Given the description of an element on the screen output the (x, y) to click on. 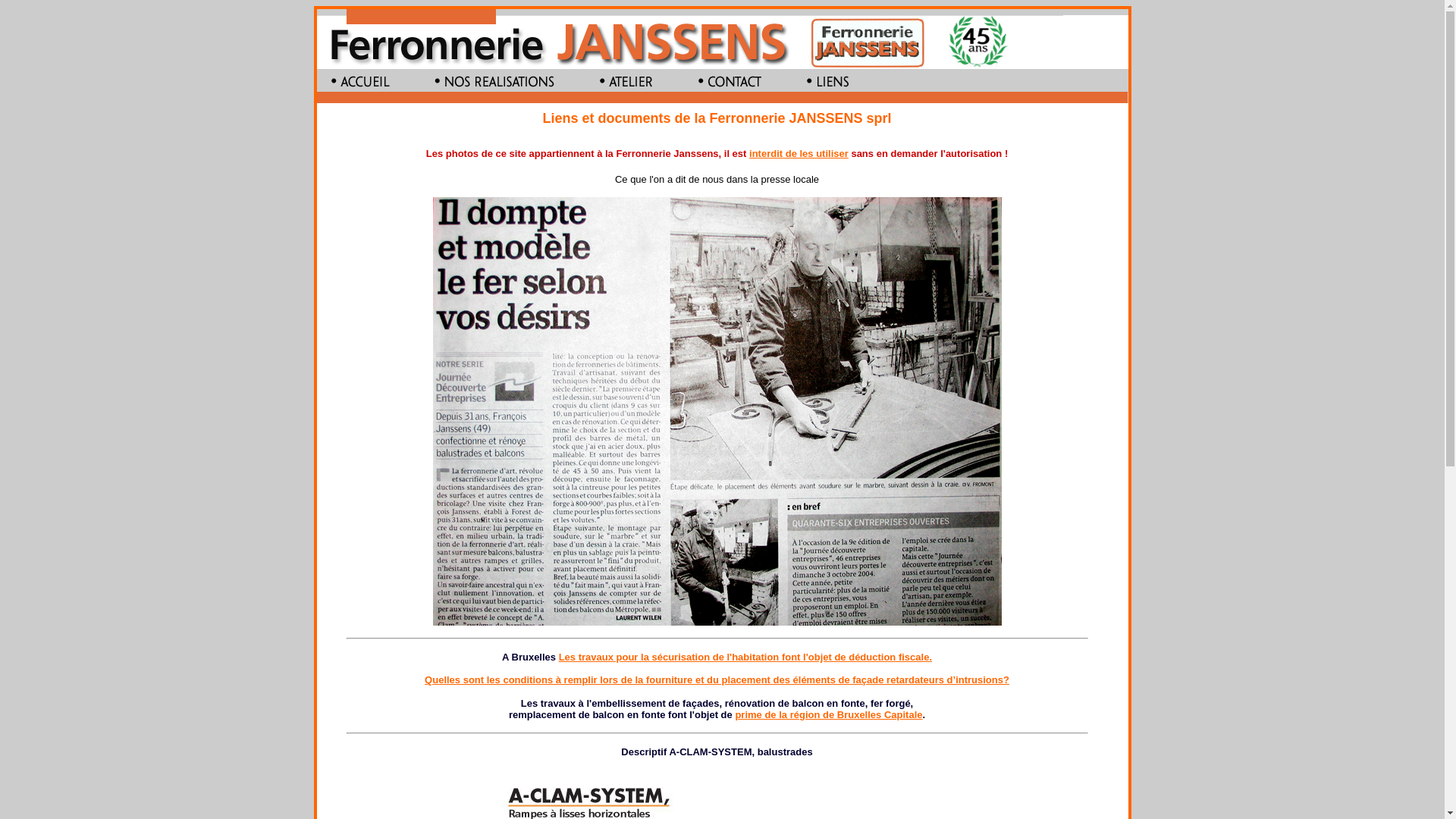
interdit de les utiliser Element type: text (798, 153)
